Given the description of an element on the screen output the (x, y) to click on. 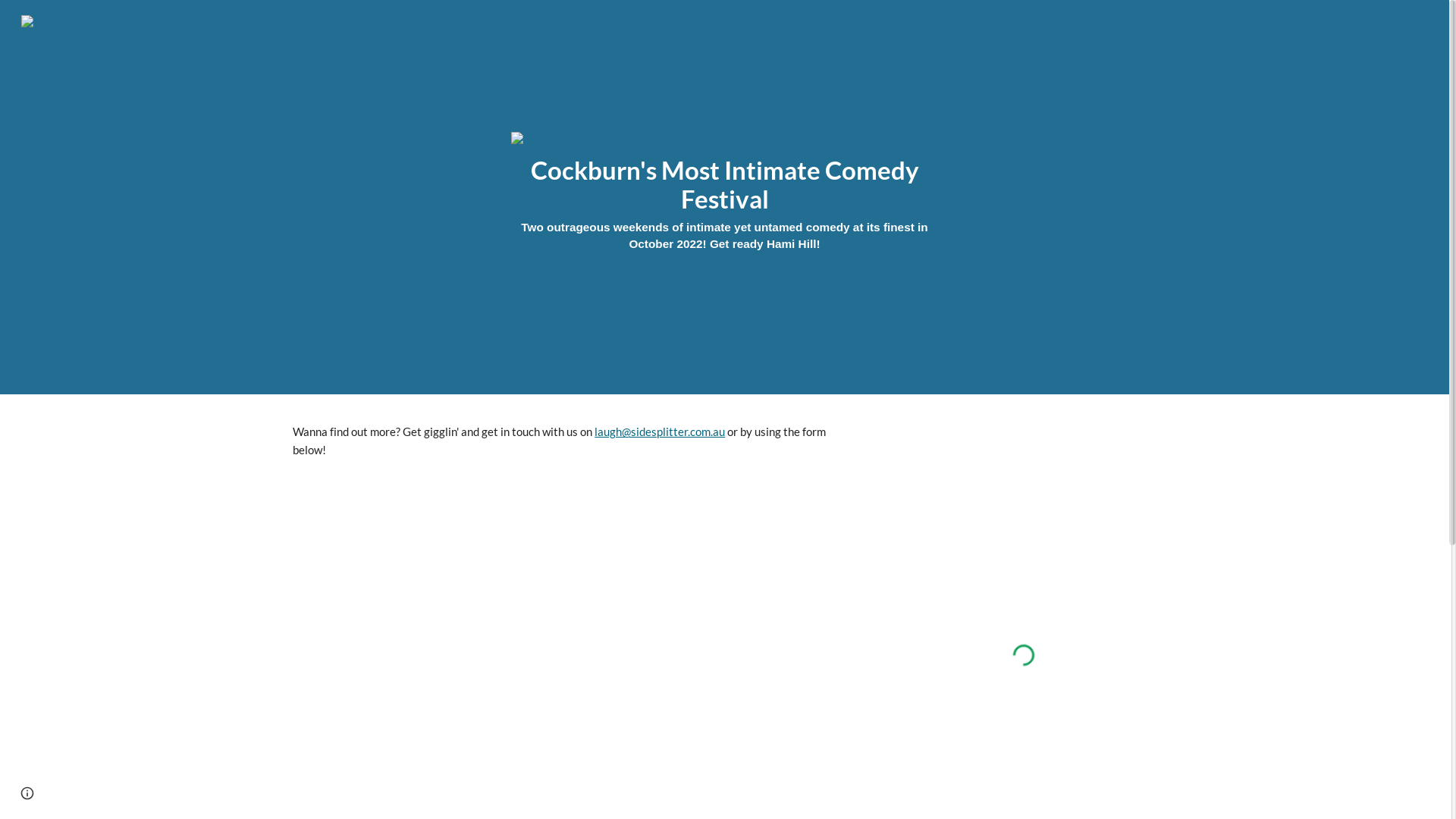
laugh@sidesplitter.com.au Element type: text (659, 431)
